Given the description of an element on the screen output the (x, y) to click on. 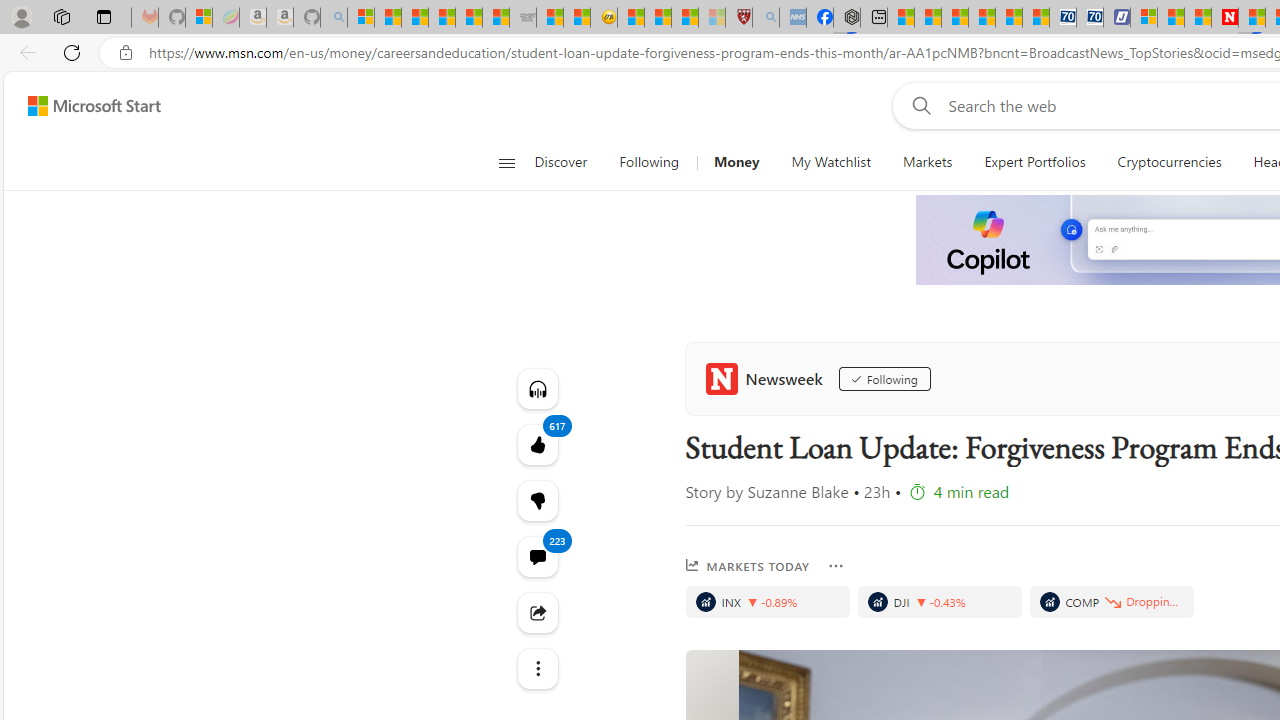
Markets (926, 162)
Price decrease (1110, 601)
Newsweek (767, 378)
12 Popular Science Lies that Must be Corrected - Sleeping (711, 17)
The Weather Channel - MSN (414, 17)
Newsweek - News, Analysis, Politics, Business, Technology (1224, 17)
More Options (835, 565)
